Given the description of an element on the screen output the (x, y) to click on. 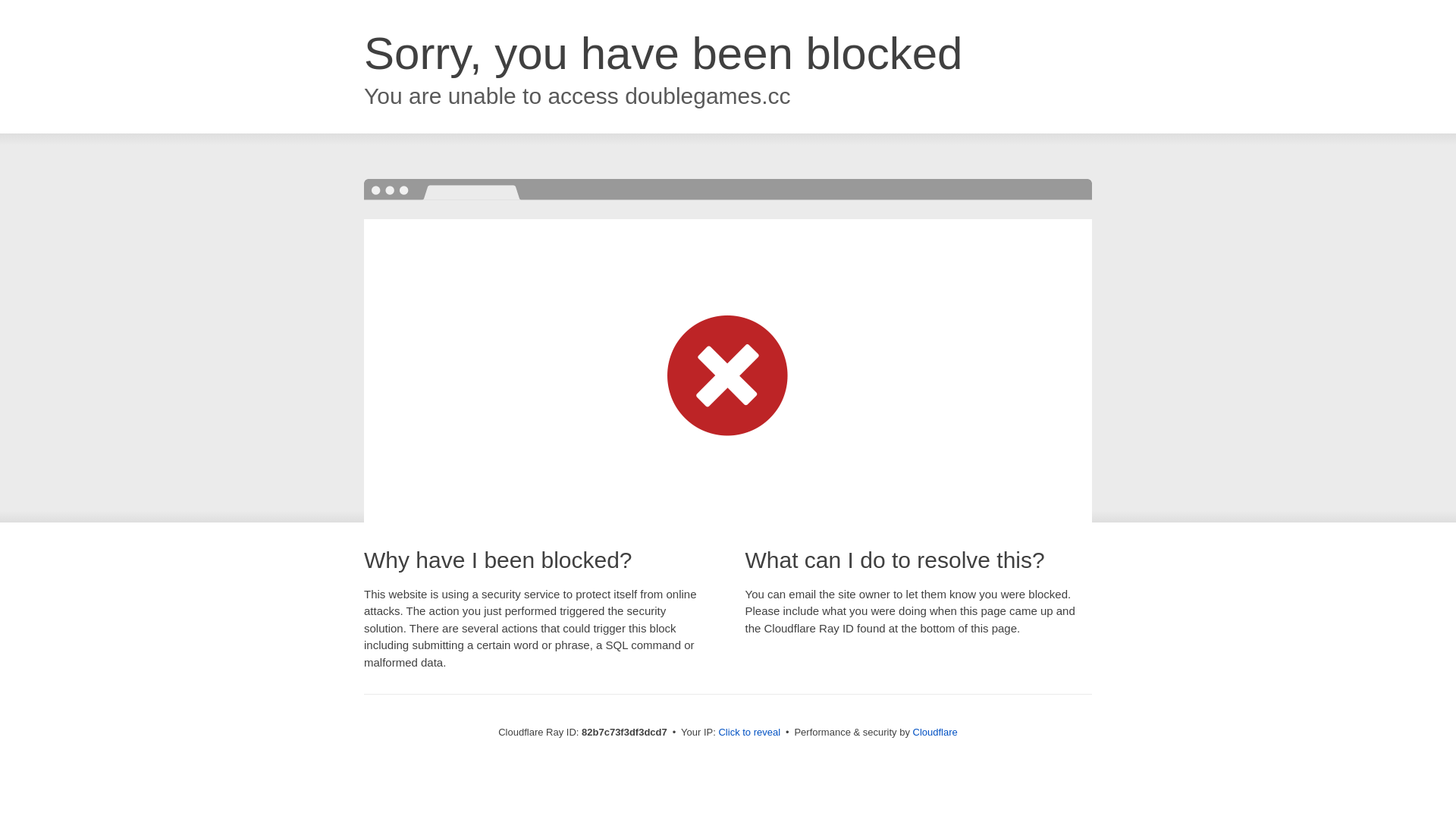
Click to reveal Element type: text (749, 732)
Cloudflare Element type: text (935, 731)
